Given the description of an element on the screen output the (x, y) to click on. 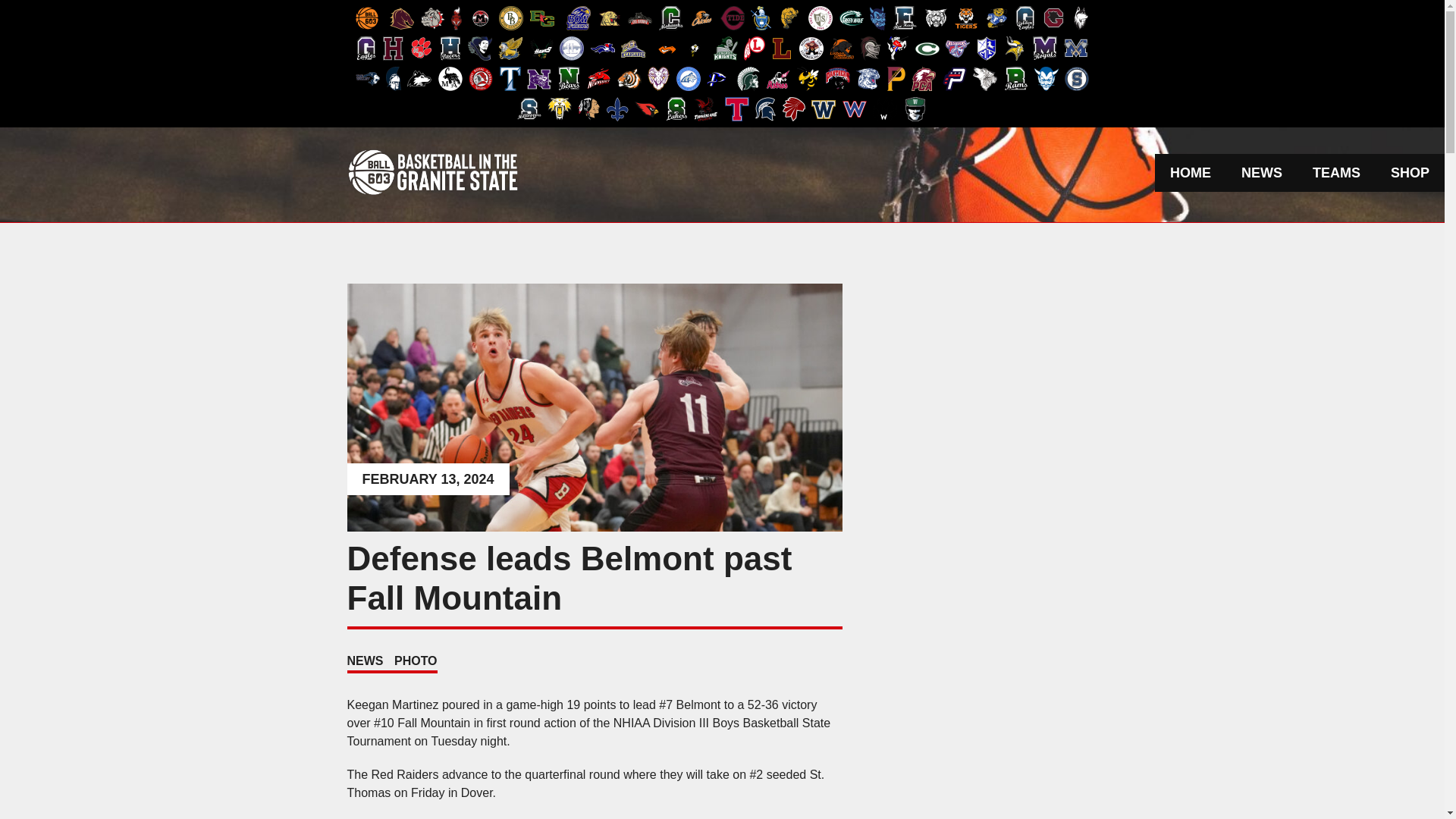
Berlin (480, 18)
Bishop Guertin (541, 18)
Alvirne (401, 18)
ConVal (789, 17)
Bow (578, 17)
Coe-Brown (639, 18)
Concord (732, 17)
Bedford (432, 18)
Bishop Brady (510, 17)
Derryfield (820, 17)
Colebrook (670, 17)
Conant (700, 17)
Campbell (608, 17)
